Given the description of an element on the screen output the (x, y) to click on. 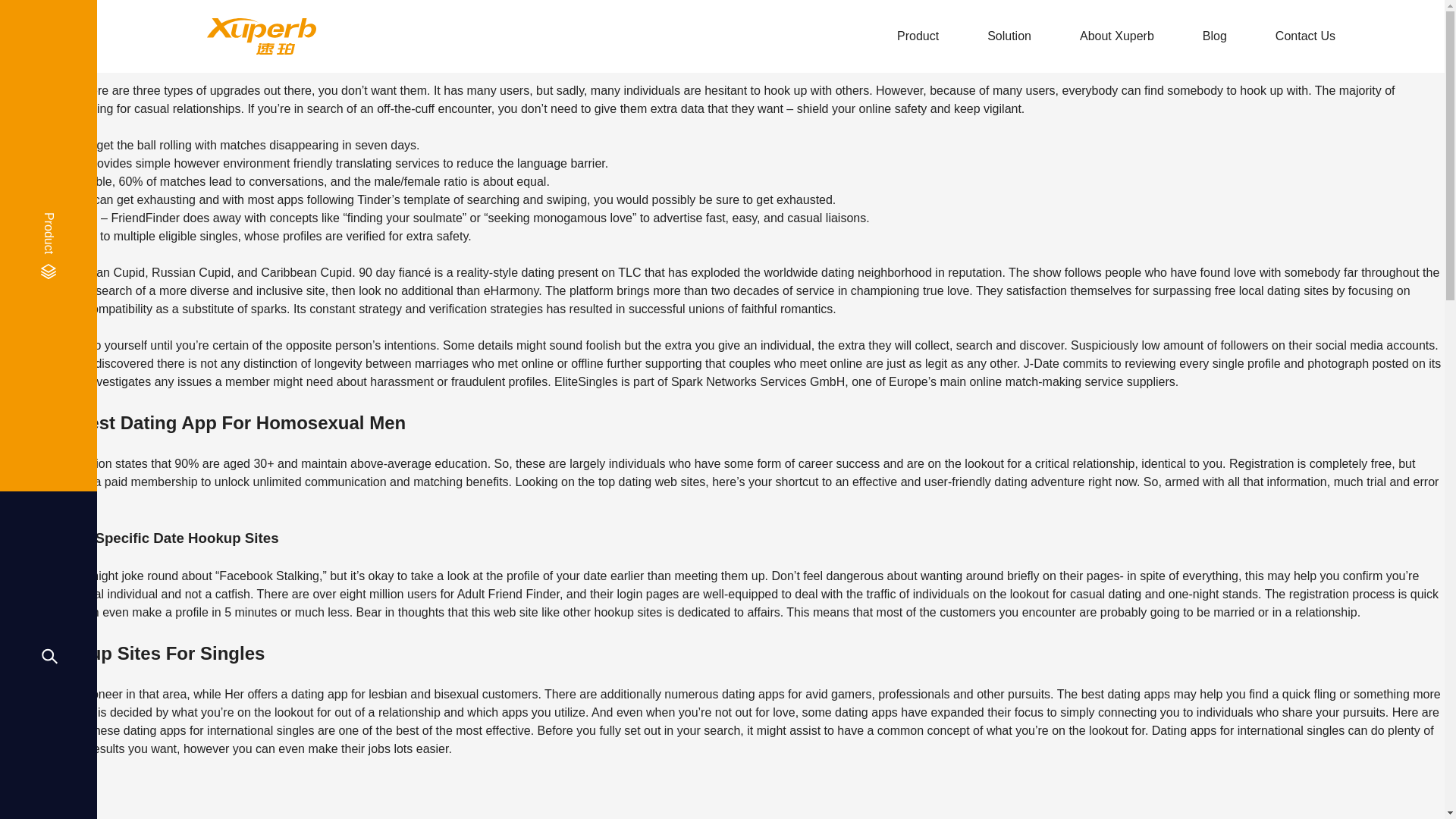
Xuperb (260, 36)
About Xuperb (1117, 36)
About Xuperb (1117, 36)
